Given the description of an element on the screen output the (x, y) to click on. 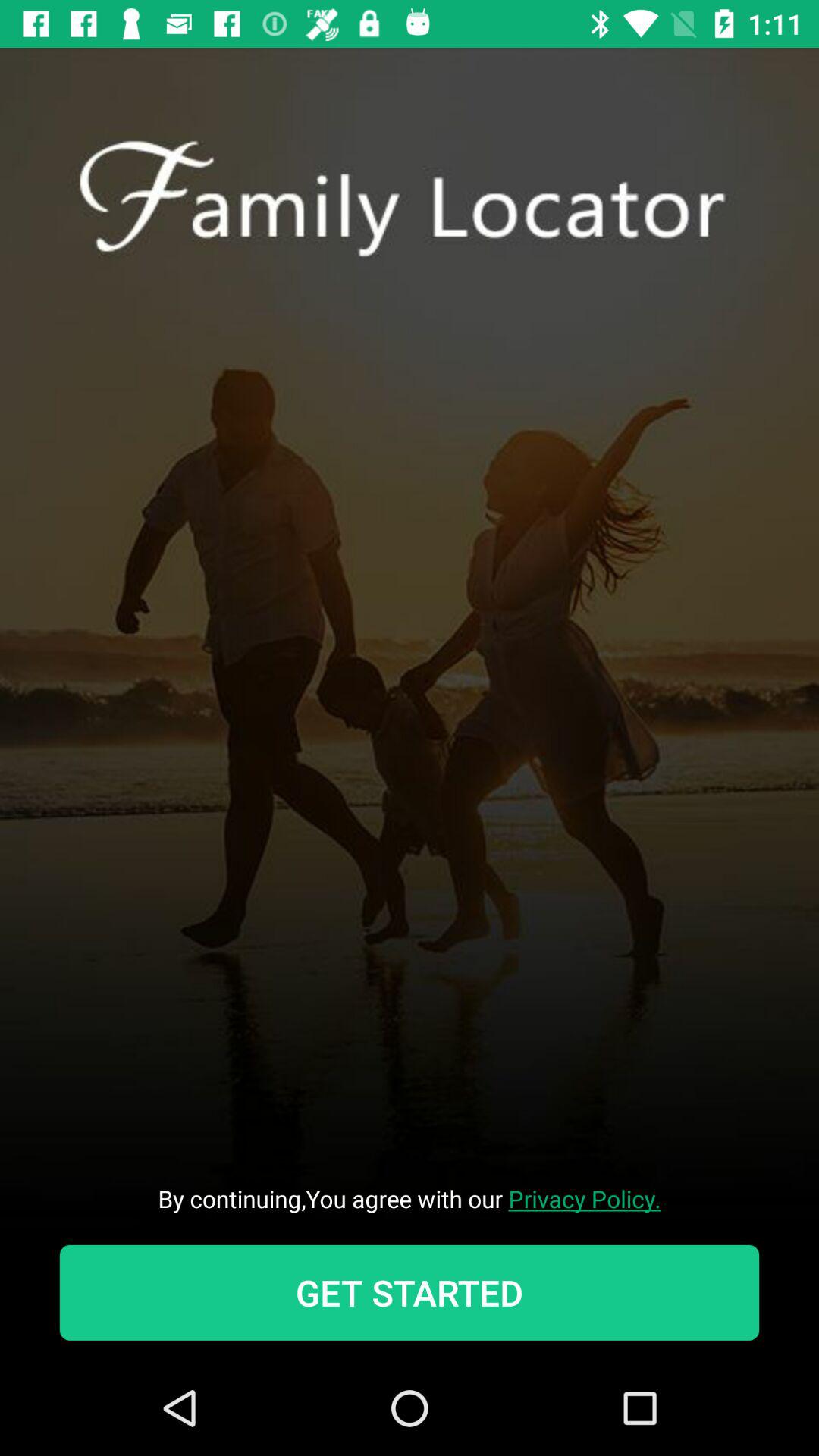
tap item above get started icon (409, 1198)
